Given the description of an element on the screen output the (x, y) to click on. 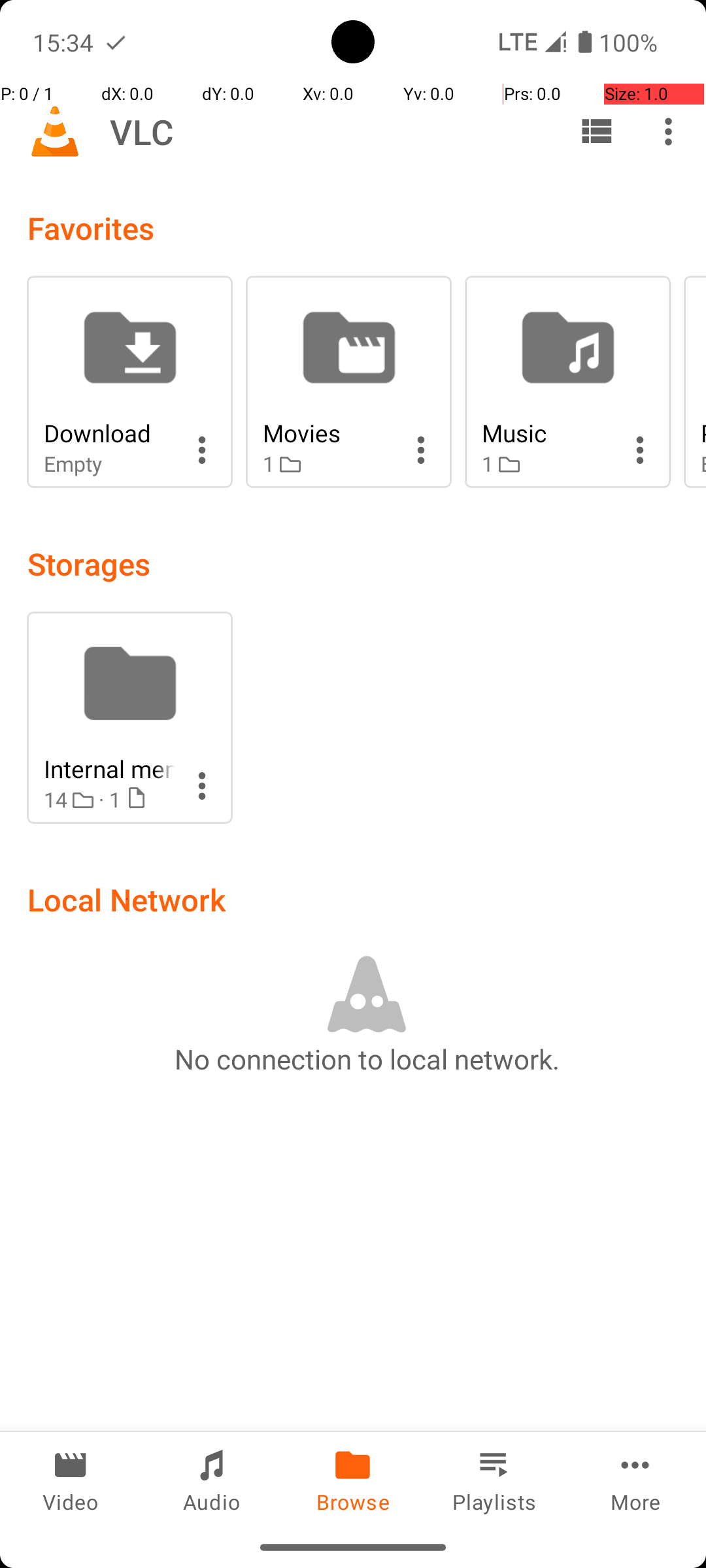
Storages Element type: android.widget.TextView (88, 563)
Local Network Element type: android.widget.TextView (126, 898)
No connection to local network. Element type: android.widget.TextView (366, 1058)
Favorite: Download, Empty Element type: androidx.cardview.widget.CardView (129, 381)
Favorite: Movies, 1 subfolder Element type: androidx.cardview.widget.CardView (348, 381)
Favorite: Music, 1 subfolder Element type: androidx.cardview.widget.CardView (567, 381)
Favorite: Podcasts, Empty Element type: androidx.cardview.widget.CardView (694, 381)
Folder: Internal memory, 14 subfolders, 1 media file Element type: androidx.cardview.widget.CardView (129, 717)
Empty Element type: android.widget.TextView (108, 463)
1 §*§ Element type: android.widget.TextView (327, 463)
14 §*§ · 1 *§* Element type: android.widget.TextView (108, 799)
